Given the description of an element on the screen output the (x, y) to click on. 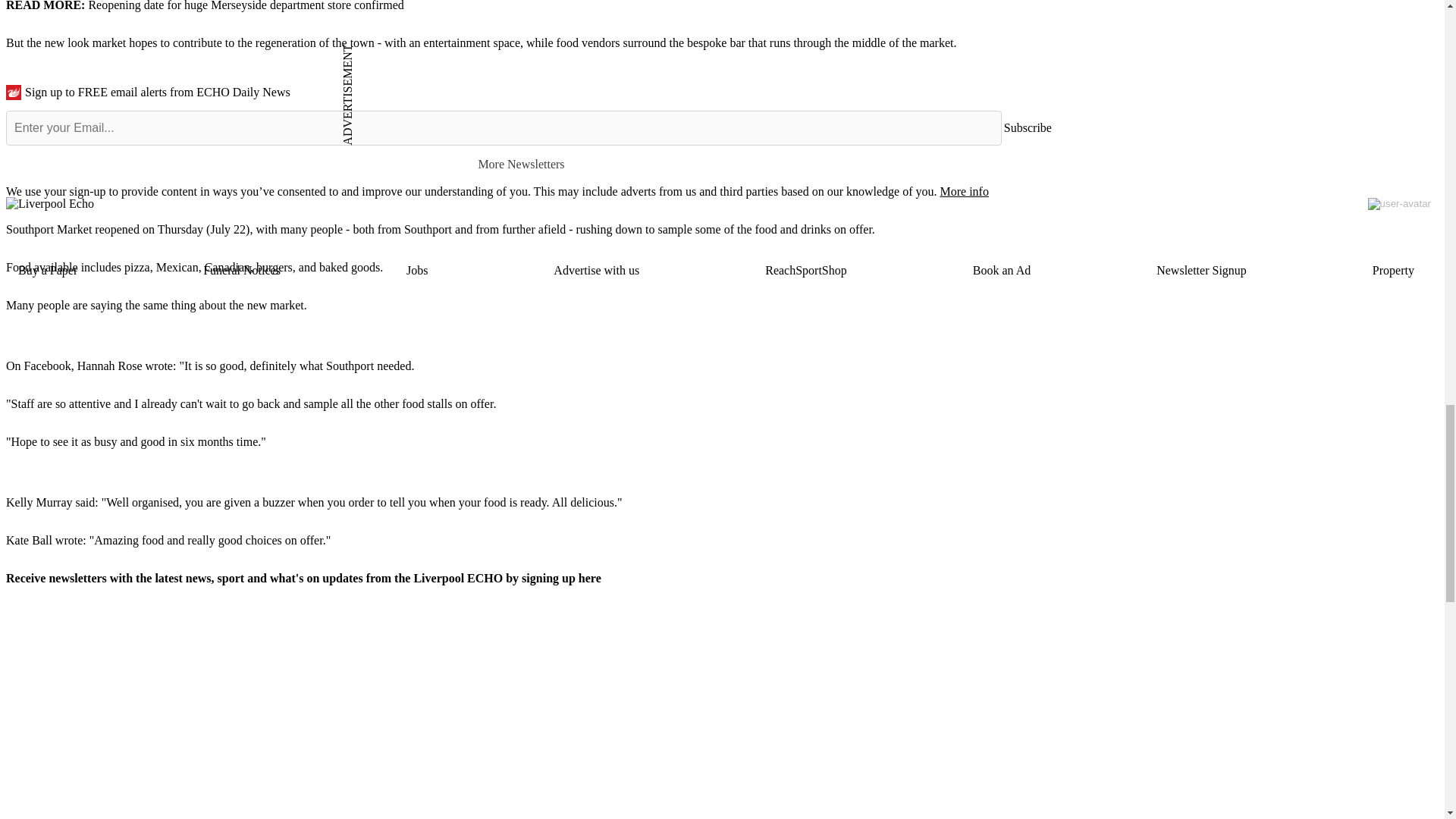
the food and drinks on offer. (805, 228)
Subscribe (1027, 127)
the new look market (75, 42)
More info (963, 191)
More Newsletters (528, 164)
Liverpool ECHO by signing up here (506, 577)
